Given the description of an element on the screen output the (x, y) to click on. 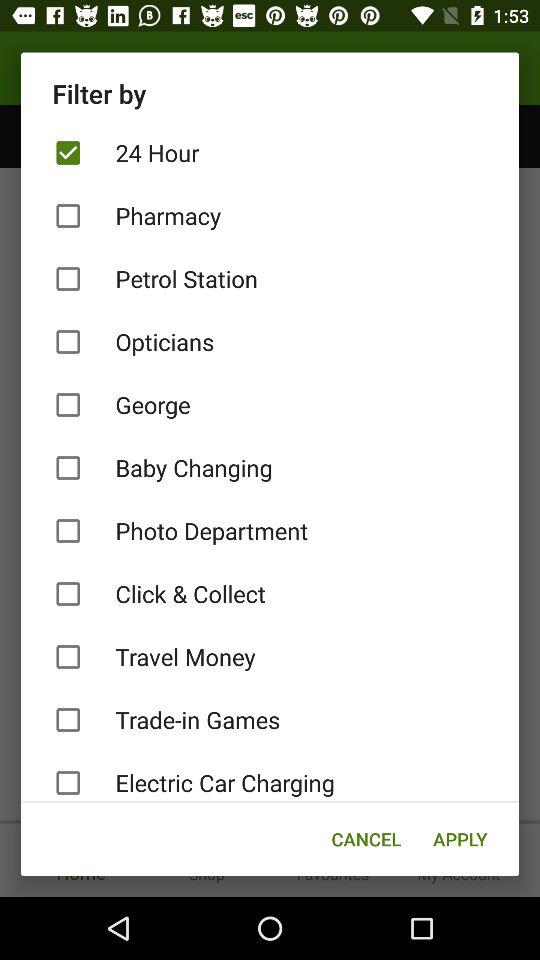
turn on the icon next to cancel icon (460, 838)
